Given the description of an element on the screen output the (x, y) to click on. 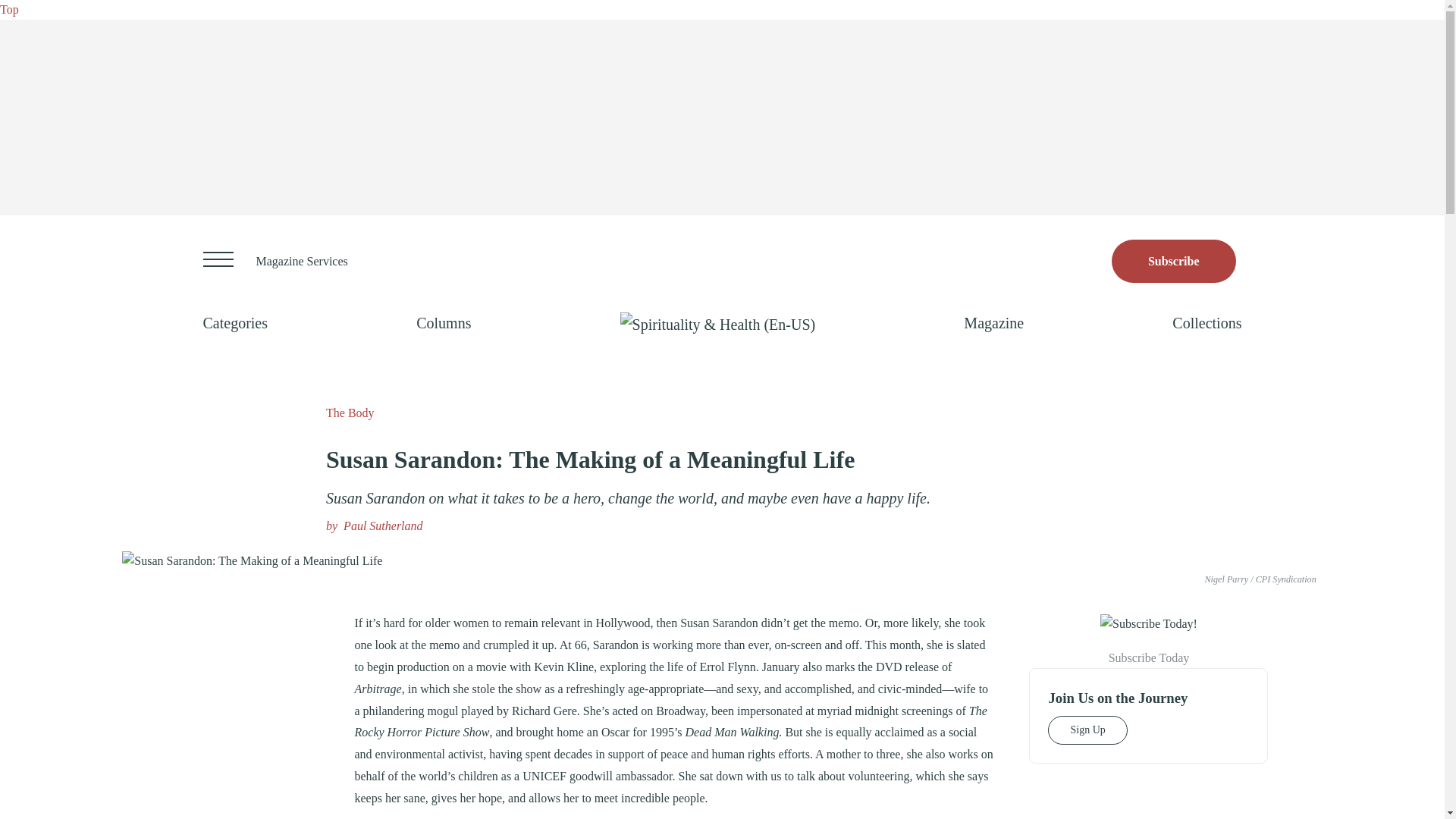
Magazine Services (301, 260)
Collections (1206, 322)
Opens to Store site (1174, 261)
Columns (443, 322)
Magazine (993, 322)
Top (9, 9)
Subscribe (1174, 261)
Categories (235, 322)
